Given the description of an element on the screen output the (x, y) to click on. 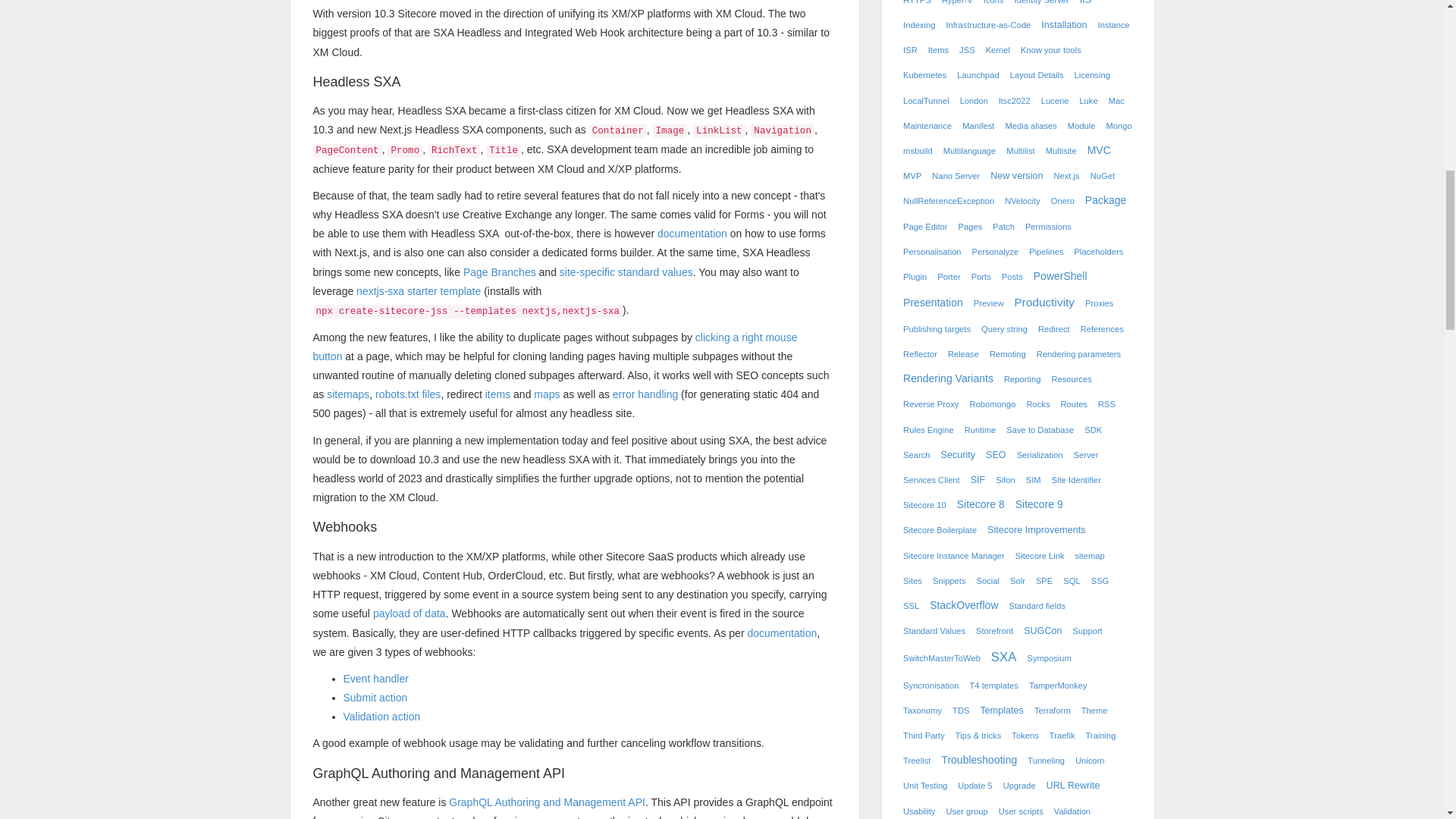
sitemaps (347, 394)
clicking a right mouse button (554, 346)
GraphQL Authoring and Management API (546, 802)
Page Branches (499, 272)
Submit action (374, 697)
robots.txt files (408, 394)
maps (546, 394)
items (497, 394)
documentation (781, 633)
nextjs-sxa starter template (418, 291)
